Given the description of an element on the screen output the (x, y) to click on. 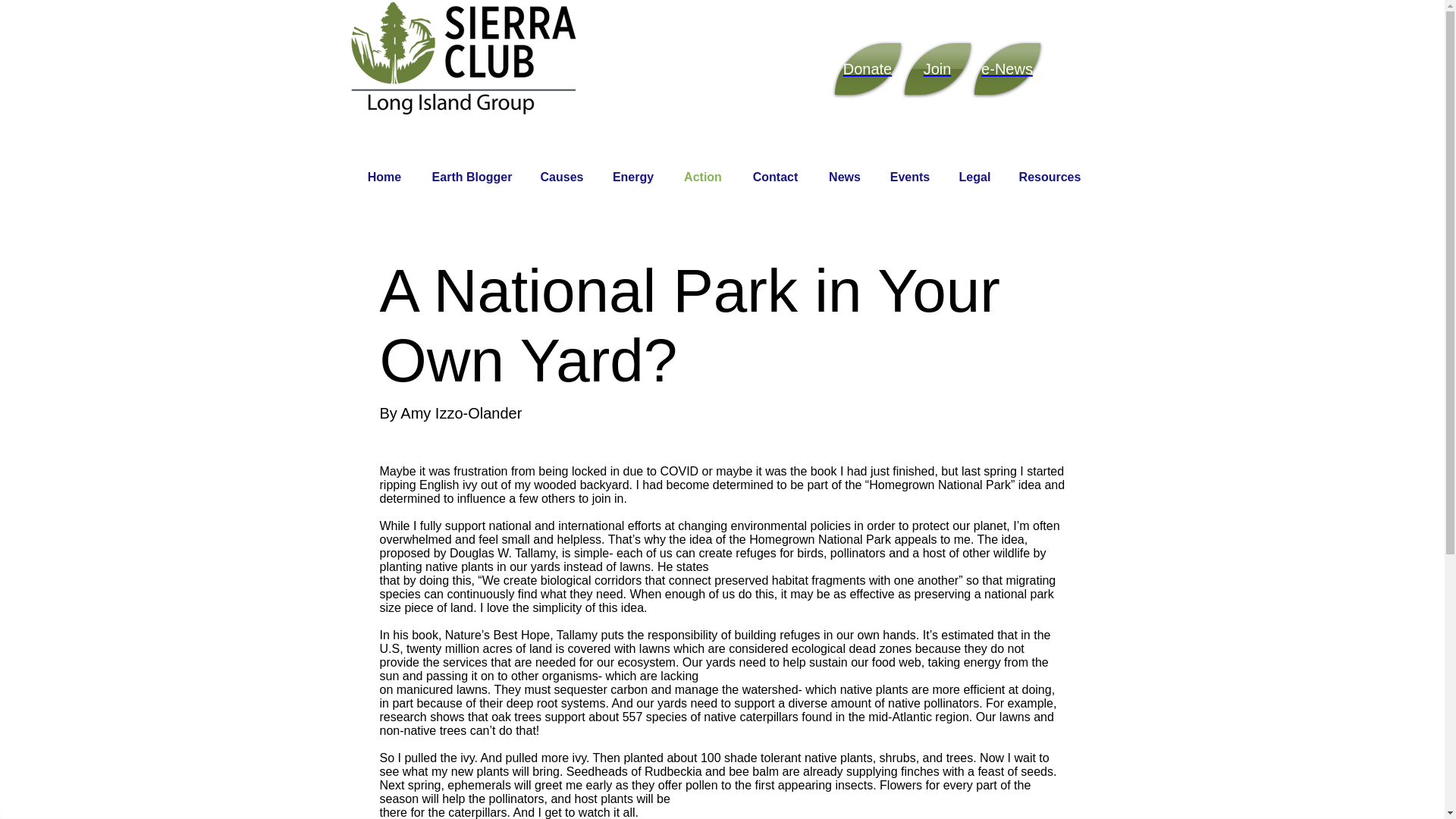
Energy (632, 177)
Home (383, 177)
e-News (1006, 69)
Join (936, 69)
Causes (561, 177)
Donate (866, 69)
Earth Blogger (472, 177)
